Given the description of an element on the screen output the (x, y) to click on. 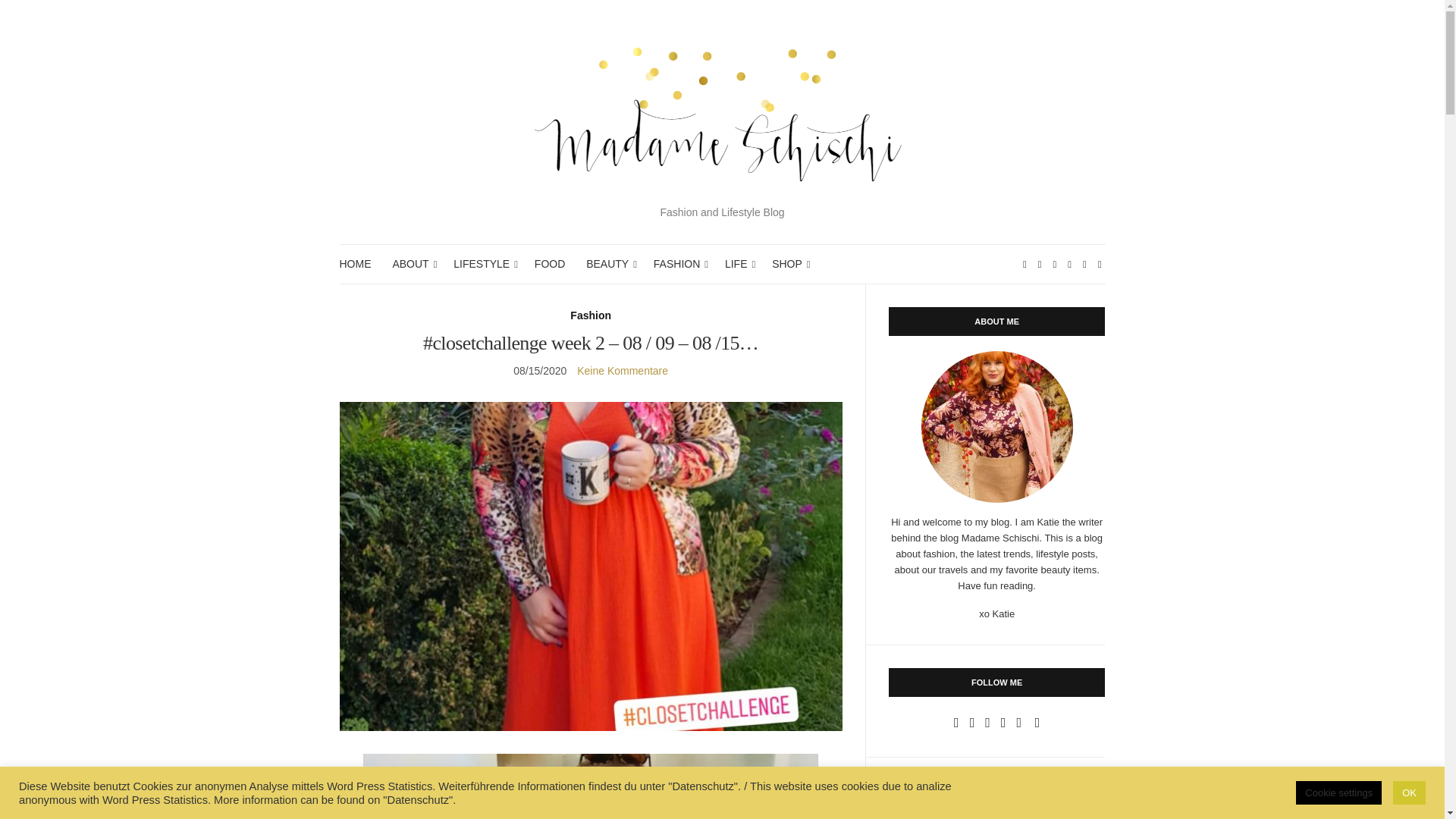
HOME (355, 263)
ABOUT (411, 263)
Keine Kommentare (622, 370)
FASHION (678, 263)
BEAUTY (608, 263)
Fashion (590, 315)
FOOD (549, 263)
LIFE (738, 263)
SHOP (788, 263)
LIFESTYLE (482, 263)
